Given the description of an element on the screen output the (x, y) to click on. 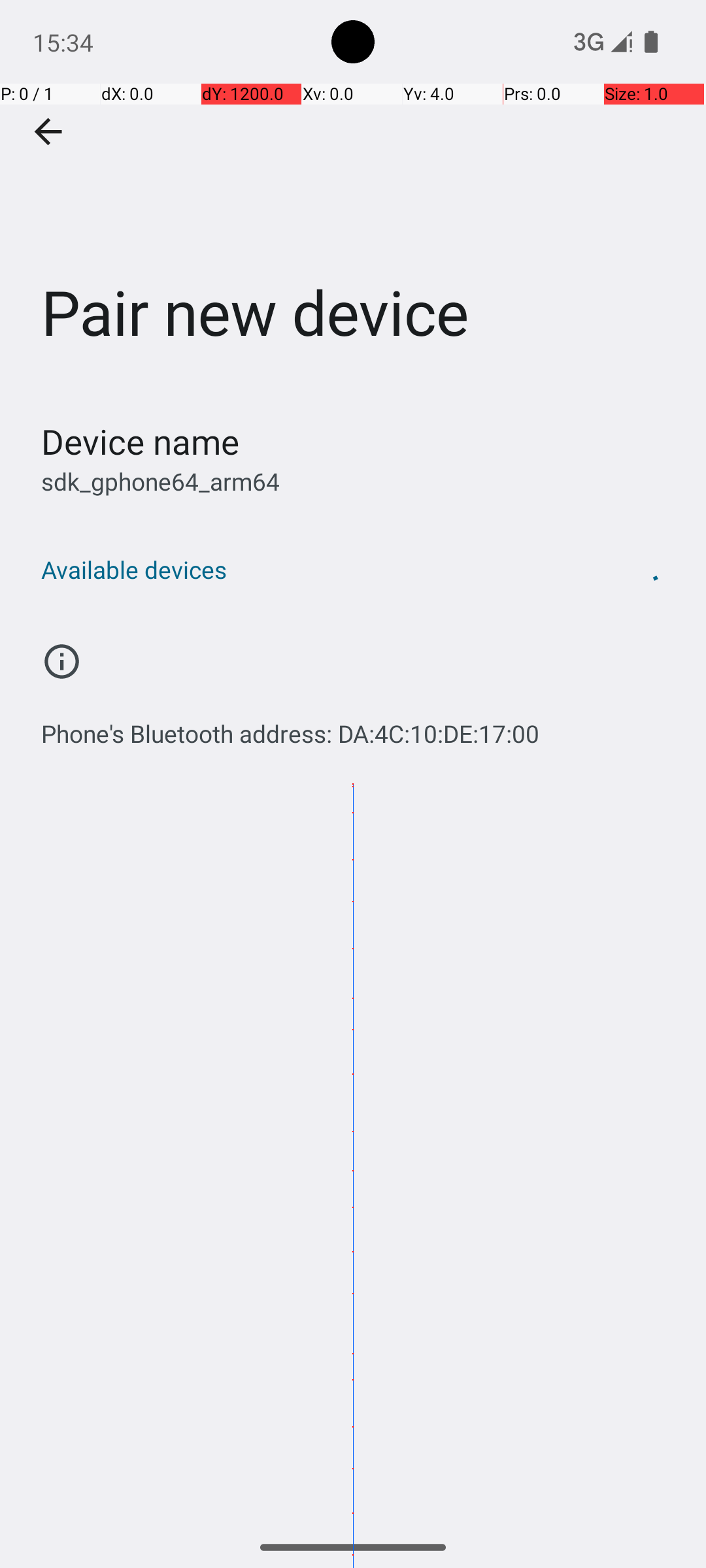
Available devices Element type: android.widget.TextView (318, 569)
Phone's Bluetooth address: DA:4C:10:DE:17:00 Element type: android.widget.TextView (290, 726)
